Given the description of an element on the screen output the (x, y) to click on. 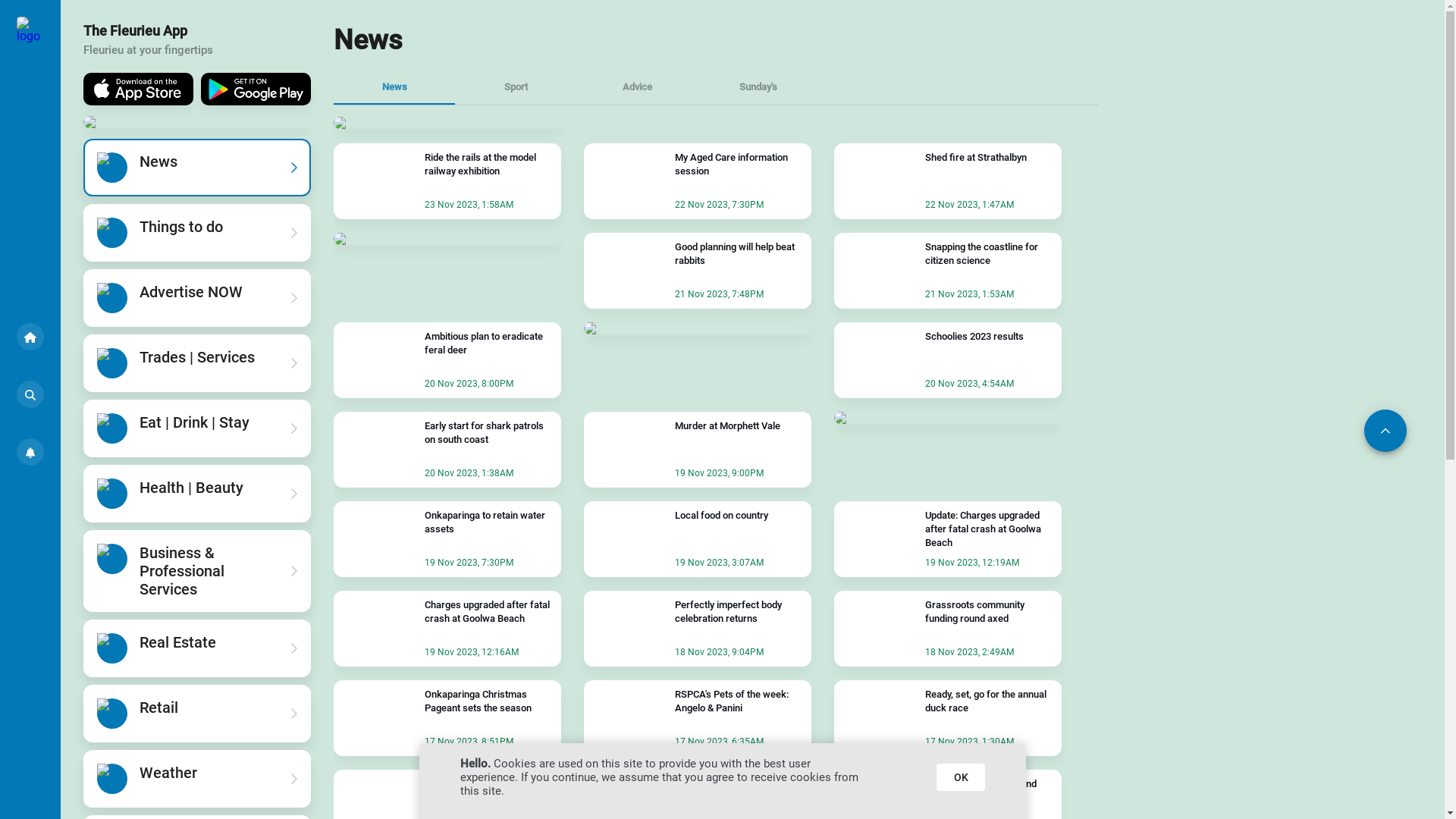
Trades | Services Element type: text (196, 363)
Ready, set, go for the annual duck race
17 Nov 2023, 1:30AM Element type: text (947, 718)
Retail Element type: text (196, 713)
Onkaparinga to retain water assets
19 Nov 2023, 7:30PM Element type: text (447, 539)
My Aged Care information session
22 Nov 2023, 7:30PM Element type: text (697, 181)
Murder at Morphett Vale
19 Nov 2023, 9:00PM Element type: text (697, 449)
OK Element type: text (959, 776)
Scroll To Top Element type: hover (1385, 430)
Health | Beauty Element type: text (196, 493)
Eat | Drink | Stay Element type: text (196, 428)
Ambitious plan to eradicate feral deer
20 Nov 2023, 8:00PM Element type: text (447, 360)
Home Element type: hover (29, 336)
Advertisement Element type: hover (702, 34)
Search Element type: hover (29, 393)
Shed fire at Strathalbyn
22 Nov 2023, 1:47AM Element type: text (947, 181)
Weather Element type: text (196, 778)
Good planning will help beat rabbits
21 Nov 2023, 7:48PM Element type: text (697, 270)
Schoolies 2023 results
20 Nov 2023, 4:54AM Element type: text (947, 360)
Real Estate Element type: text (196, 648)
News Element type: text (196, 167)
Notifications Element type: hover (29, 451)
Grassroots community funding round axed
18 Nov 2023, 2:49AM Element type: text (947, 628)
Things to do Element type: text (196, 232)
Business & Professional Services Element type: text (196, 570)
Advertise NOW Element type: text (196, 297)
Local food on country
19 Nov 2023, 3:07AM Element type: text (697, 539)
